Given the description of an element on the screen output the (x, y) to click on. 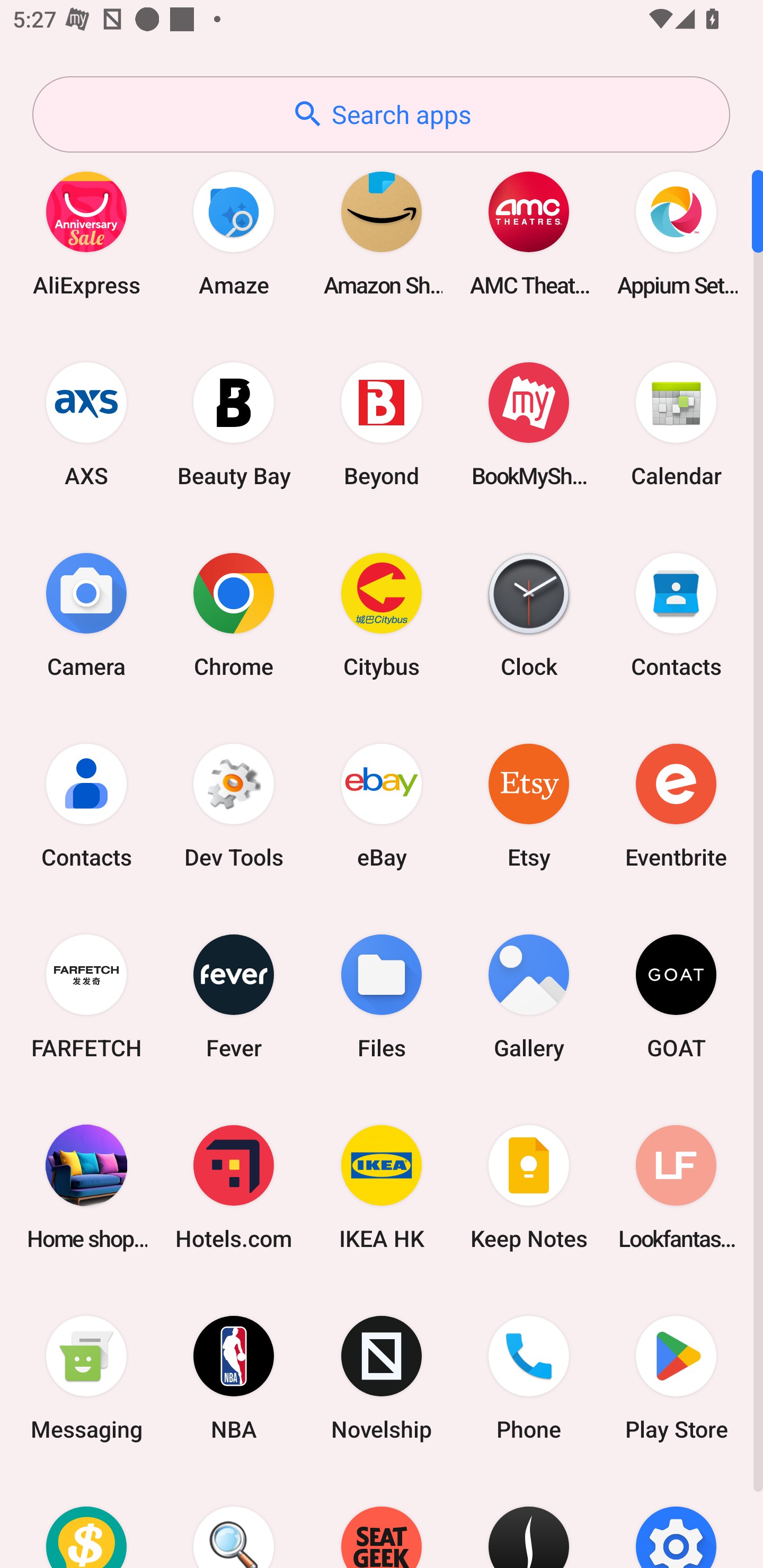
  Search apps (381, 114)
AliExpress (86, 233)
Amaze (233, 233)
Amazon Shopping (381, 233)
AMC Theatres (528, 233)
Appium Settings (676, 233)
AXS (86, 424)
Beauty Bay (233, 424)
Beyond (381, 424)
BookMyShow (528, 424)
Calendar (676, 424)
Camera (86, 614)
Chrome (233, 614)
Citybus (381, 614)
Clock (528, 614)
Contacts (676, 614)
Contacts (86, 805)
Dev Tools (233, 805)
eBay (381, 805)
Etsy (528, 805)
Eventbrite (676, 805)
FARFETCH (86, 996)
Fever (233, 996)
Files (381, 996)
Gallery (528, 996)
GOAT (676, 996)
Home shopping (86, 1186)
Hotels.com (233, 1186)
IKEA HK (381, 1186)
Keep Notes (528, 1186)
Lookfantastic (676, 1186)
Messaging (86, 1377)
NBA (233, 1377)
Novelship (381, 1377)
Phone (528, 1377)
Play Store (676, 1377)
Price (86, 1520)
Search (233, 1520)
SeatGeek (381, 1520)
Sephora (528, 1520)
Settings (676, 1520)
